Given the description of an element on the screen output the (x, y) to click on. 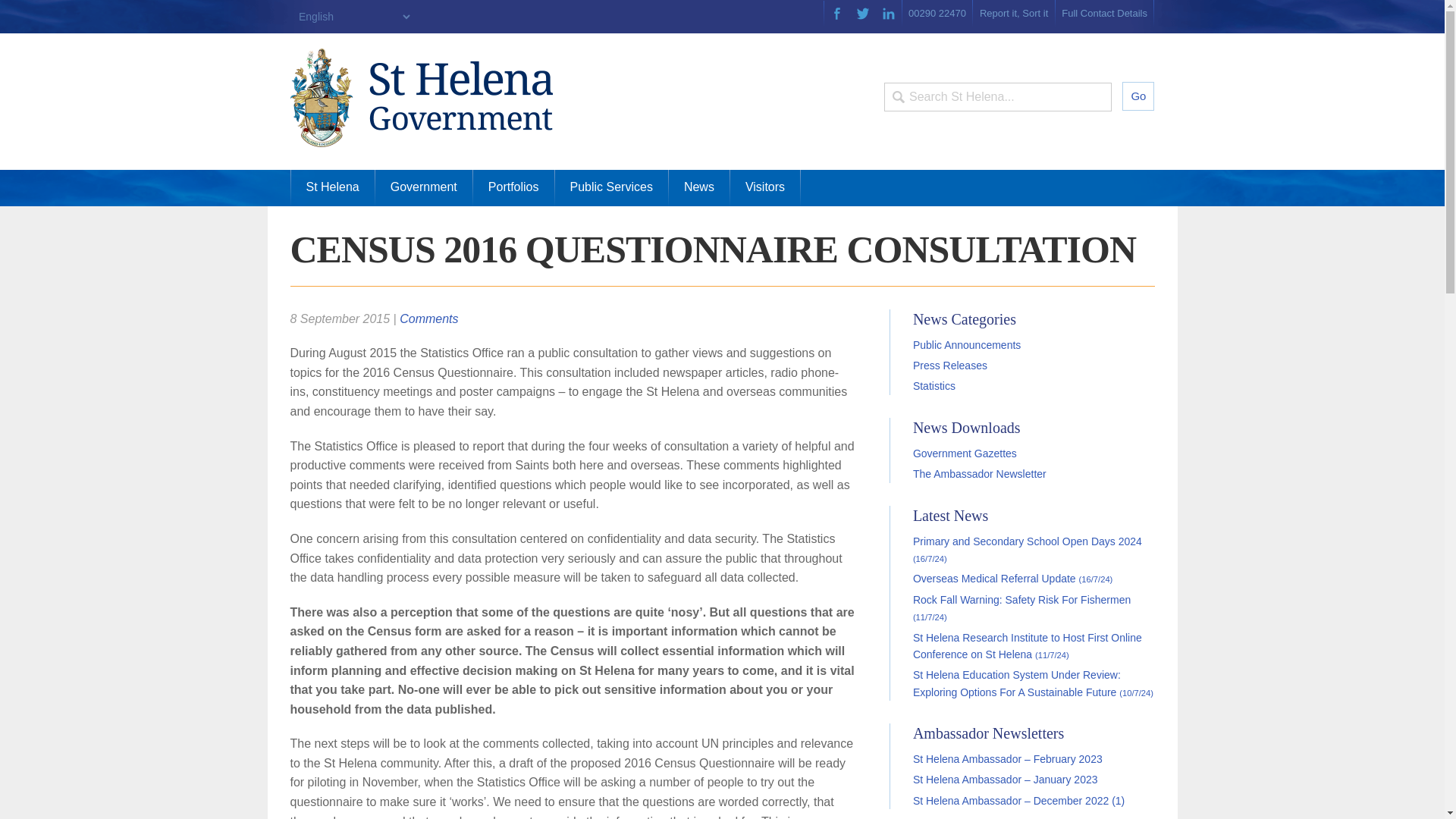
Go (1138, 95)
Go (1138, 95)
Permanent Link to Overseas Medical Referral Update (1012, 578)
